Given the description of an element on the screen output the (x, y) to click on. 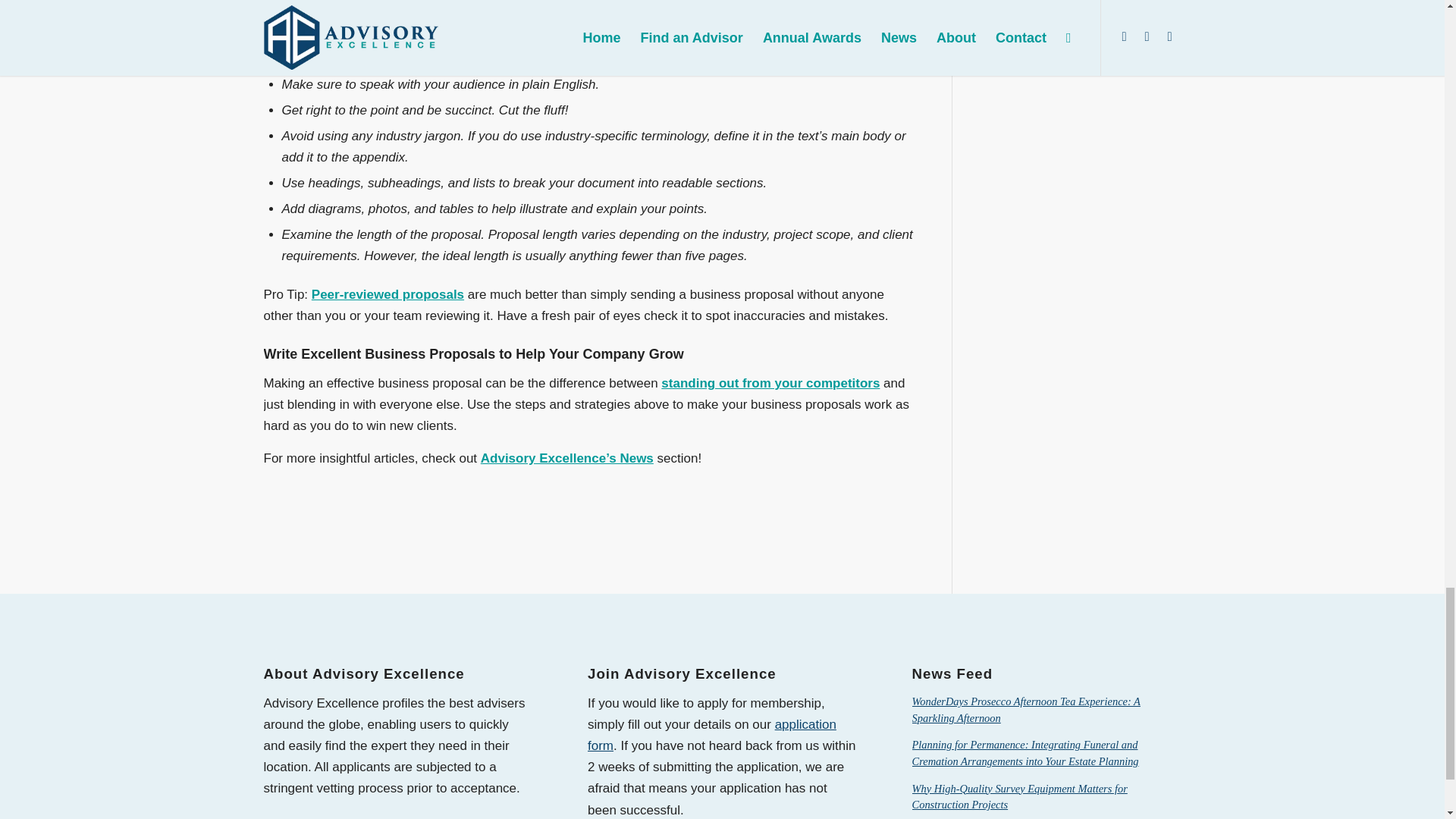
standing out from your competitors (770, 382)
Peer-reviewed proposals (387, 294)
application form (711, 734)
